Given the description of an element on the screen output the (x, y) to click on. 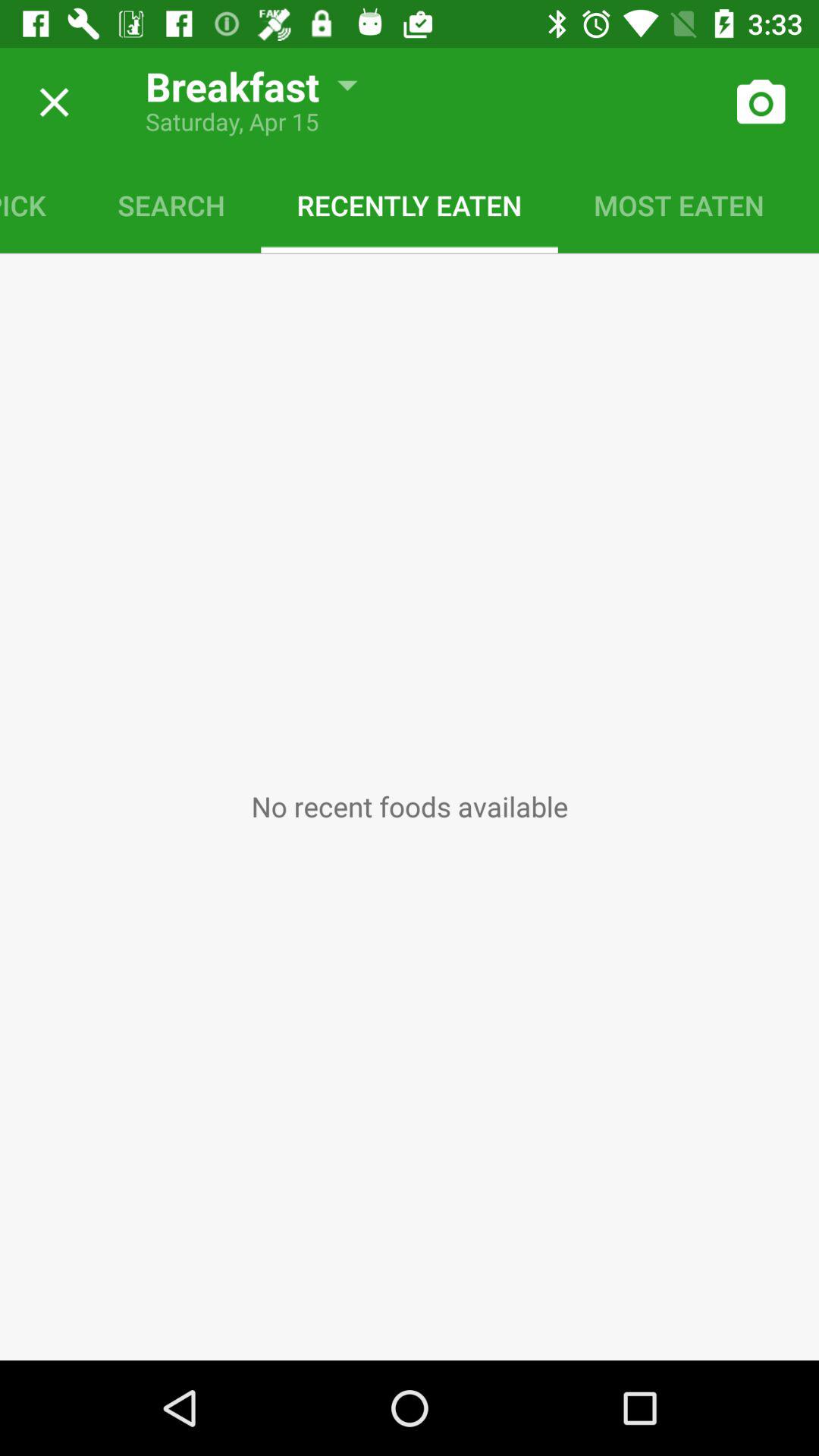
choose item next to the recently eaten item (171, 205)
